Given the description of an element on the screen output the (x, y) to click on. 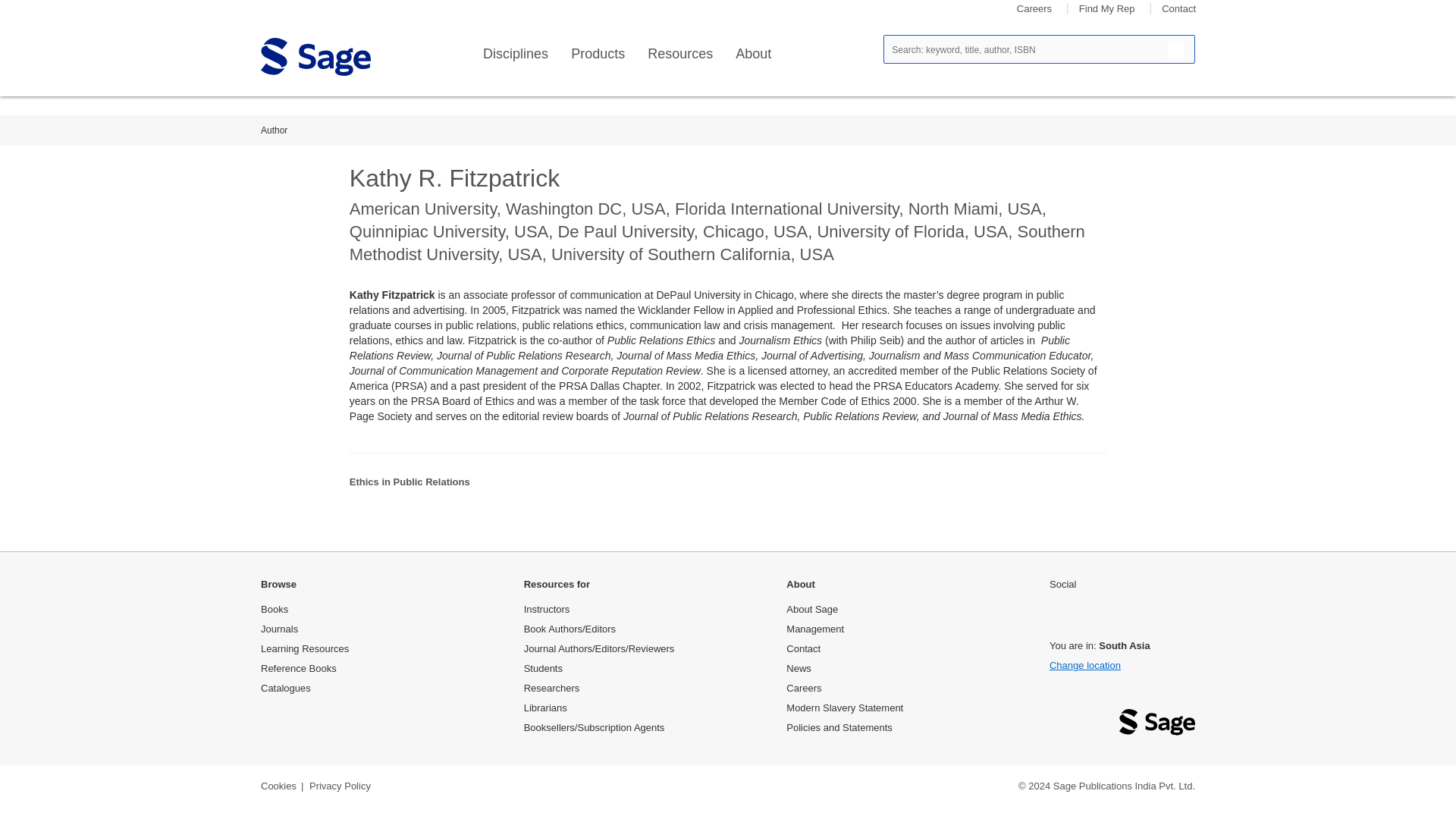
Sage: Find my rep (1106, 8)
Careers (1033, 8)
Search (1175, 48)
Contact (1178, 8)
Sage logo: link back to homepage (315, 56)
Find My Rep (1106, 8)
Disciplines (515, 53)
